Given the description of an element on the screen output the (x, y) to click on. 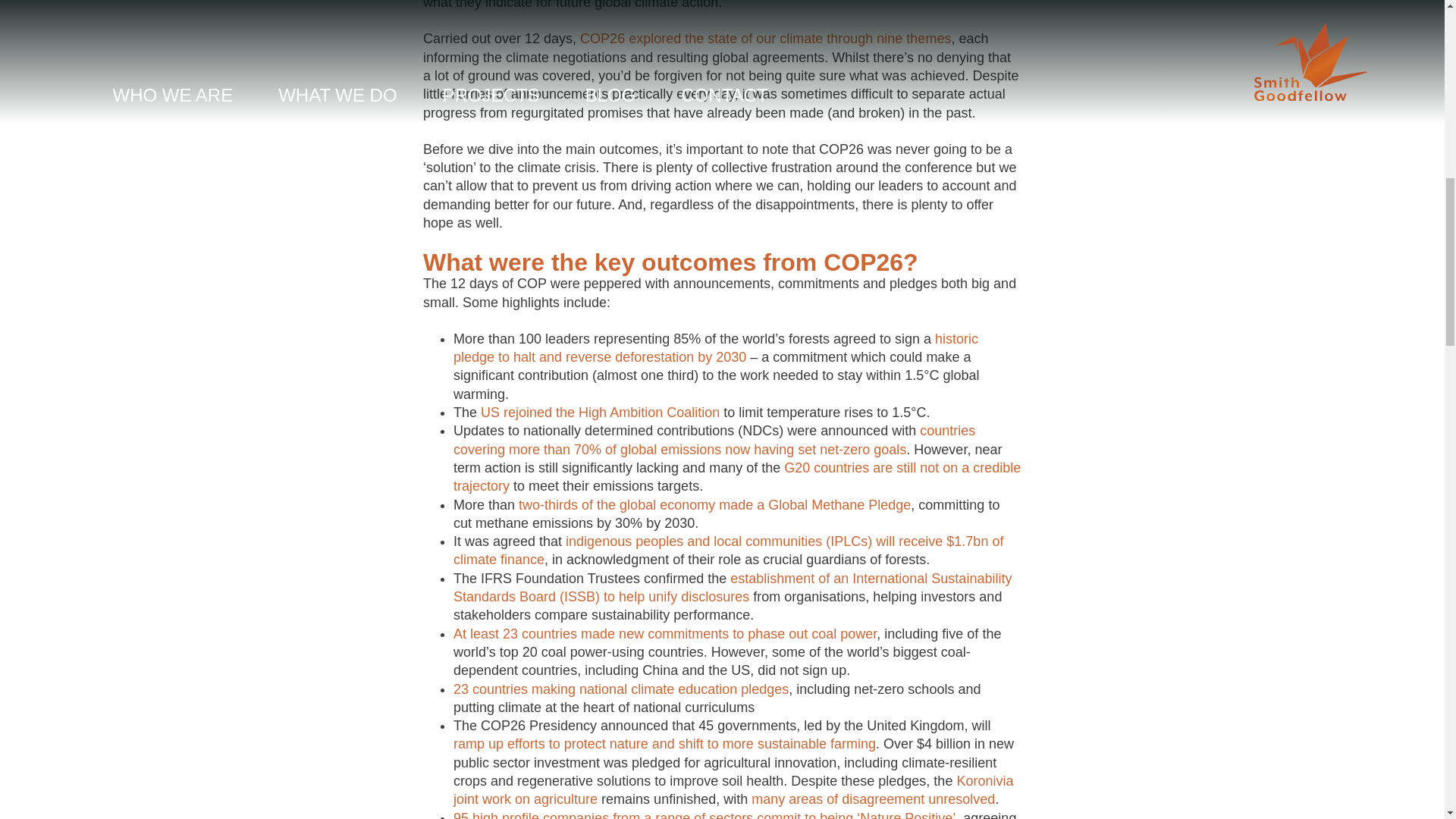
many areas of disagreement unresolved (872, 798)
Koronivia joint work on agriculture (732, 789)
23 countries making national climate education pledges (620, 688)
G20 countries are still not on a credible trajectory (736, 476)
US rejoined the High Ambition Coalition (599, 412)
COP26 explored the state of our climate through nine themes (764, 38)
historic pledge to halt and reverse deforestation by 2030 (715, 347)
